Given the description of an element on the screen output the (x, y) to click on. 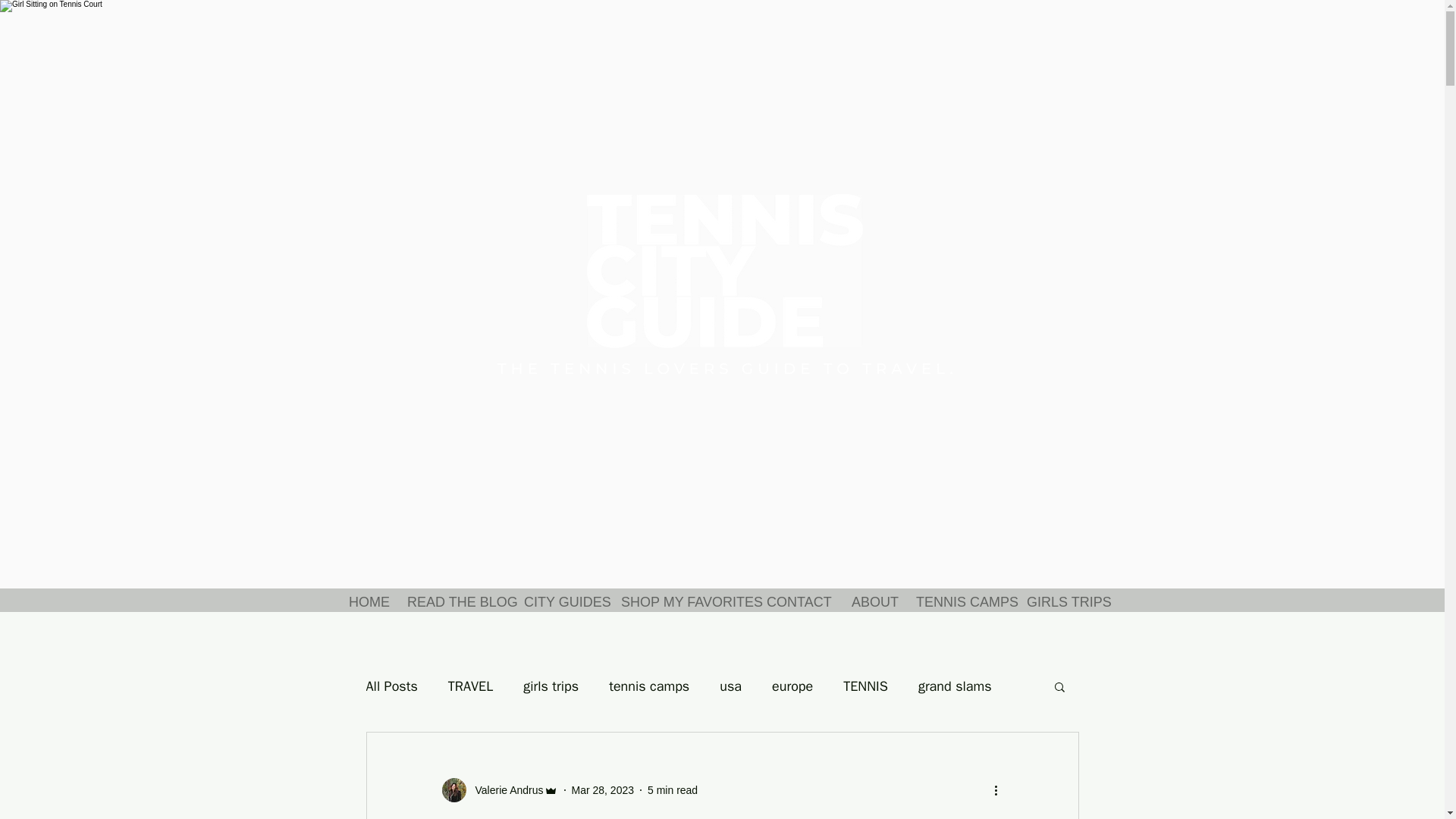
TENNIS (865, 686)
girls trips (550, 686)
5 min read (672, 789)
europe (791, 686)
Mar 28, 2023 (603, 789)
CONTACT (797, 601)
Valerie Andrus (499, 790)
READ THE BLOG (454, 601)
ABOUT (872, 601)
SHOP MY FAVORITES (682, 601)
